Given the description of an element on the screen output the (x, y) to click on. 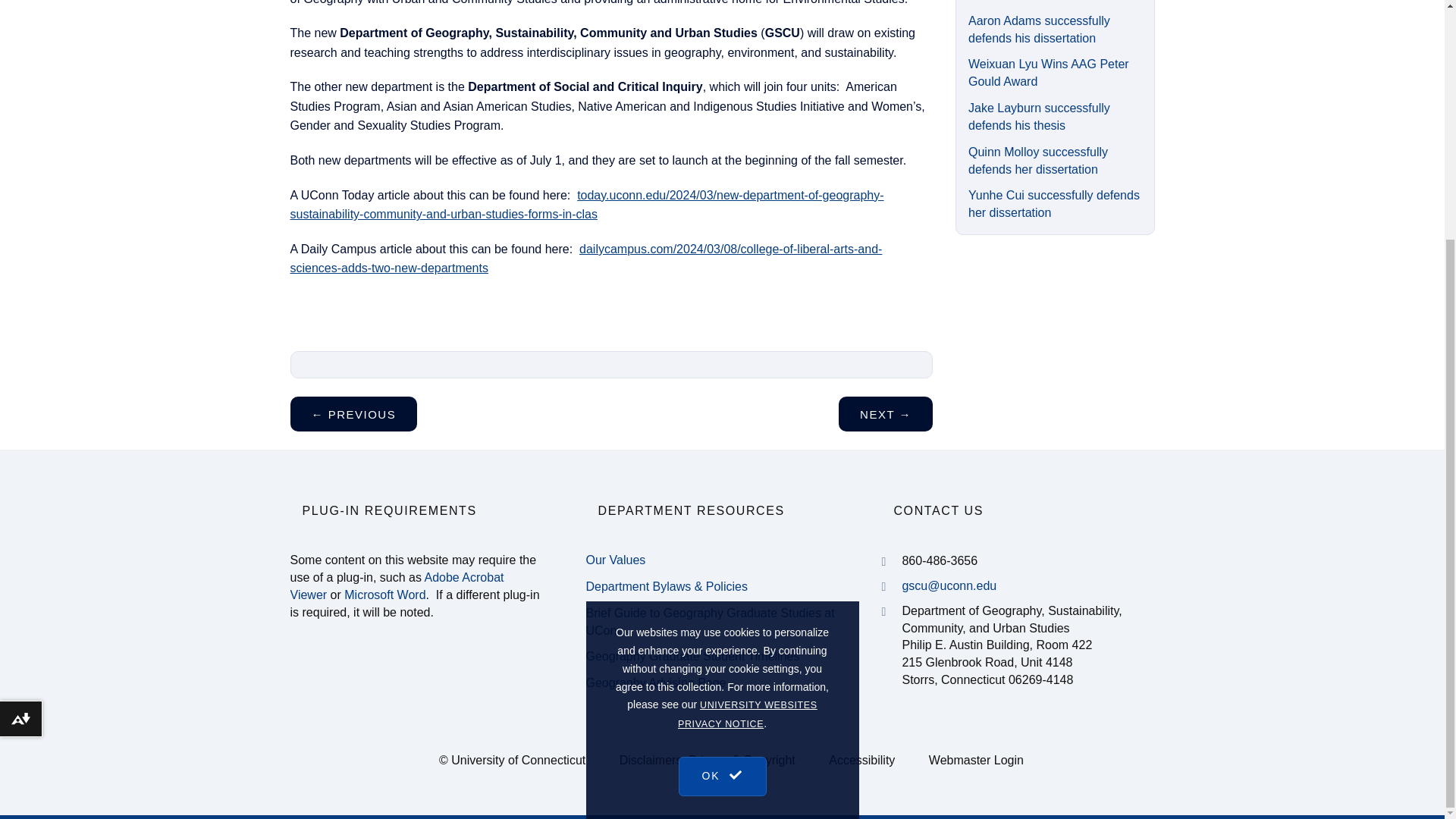
UNIVERSITY WEBSITES PRIVACY NOTICE (747, 585)
OK (721, 638)
